Given the description of an element on the screen output the (x, y) to click on. 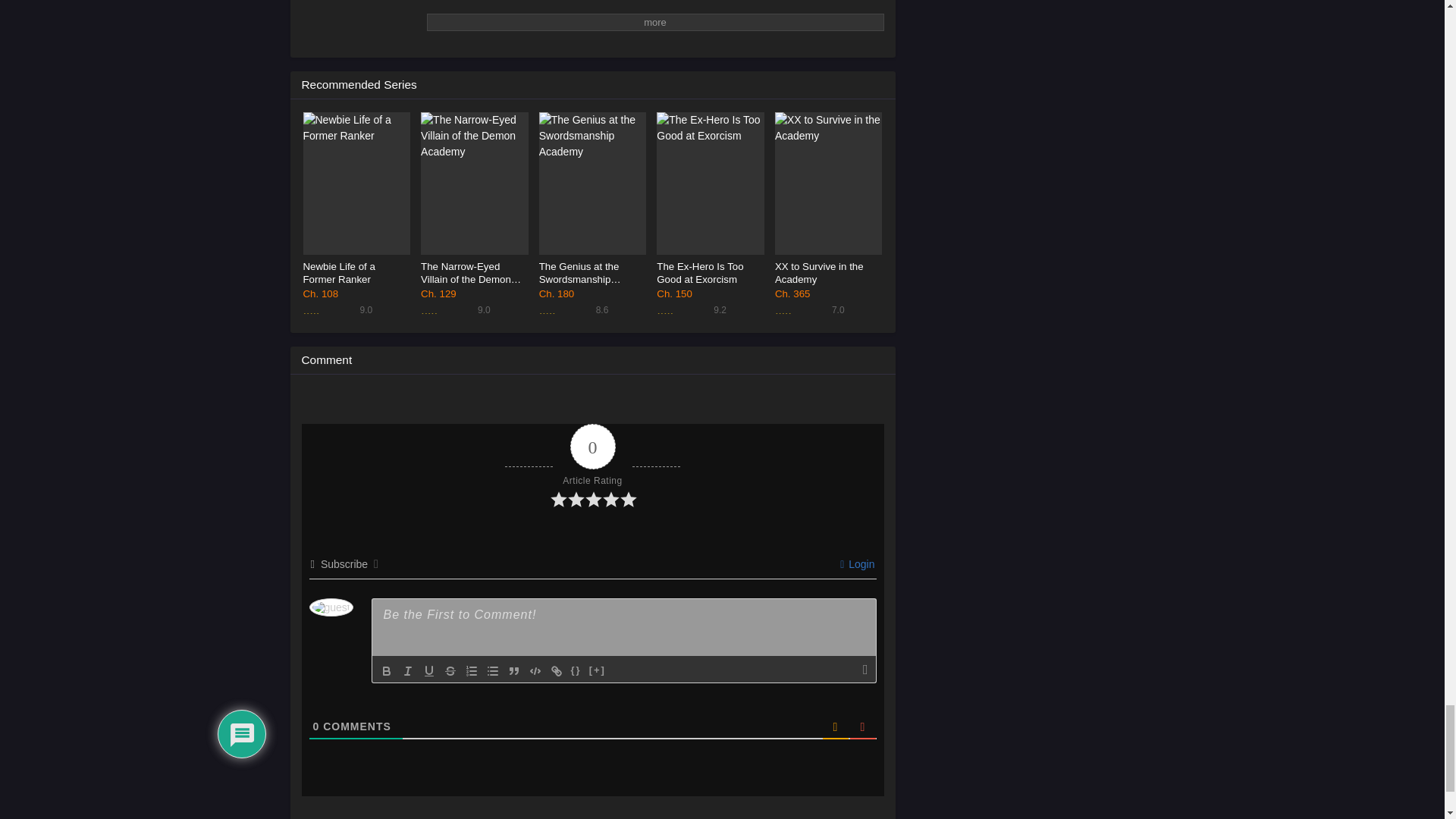
Bold (386, 670)
XX to Survive in the Academy (828, 184)
Strike (450, 670)
bullet (492, 670)
The Genius at the Swordsmanship Academy (592, 184)
The Narrow-Eyed Villain of the Demon Academy (474, 184)
Italic (408, 670)
The Ex-Hero Is Too Good at Exorcism (710, 184)
Login (828, 212)
Underline (474, 212)
Newbie Life of a Former Ranker (592, 212)
